Given the description of an element on the screen output the (x, y) to click on. 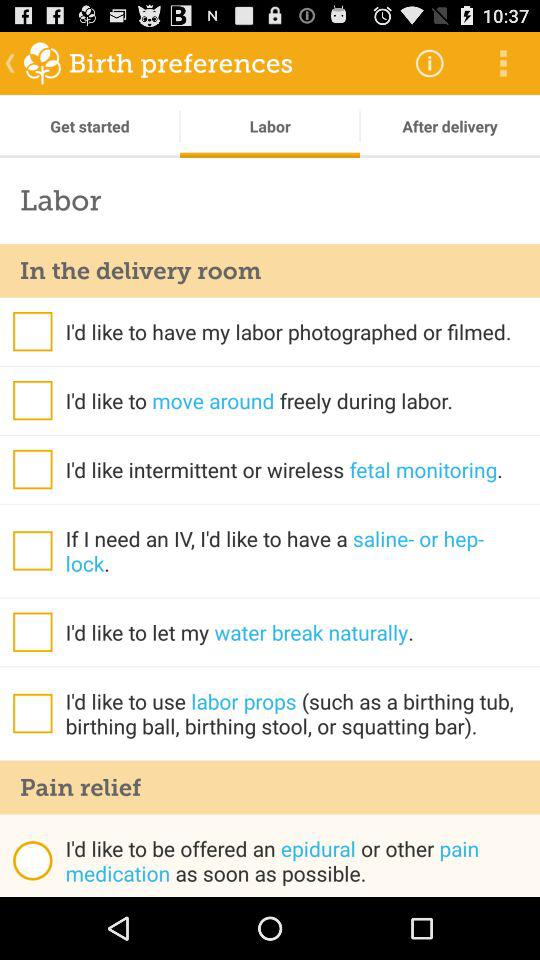
choose the pain relief (270, 787)
